Given the description of an element on the screen output the (x, y) to click on. 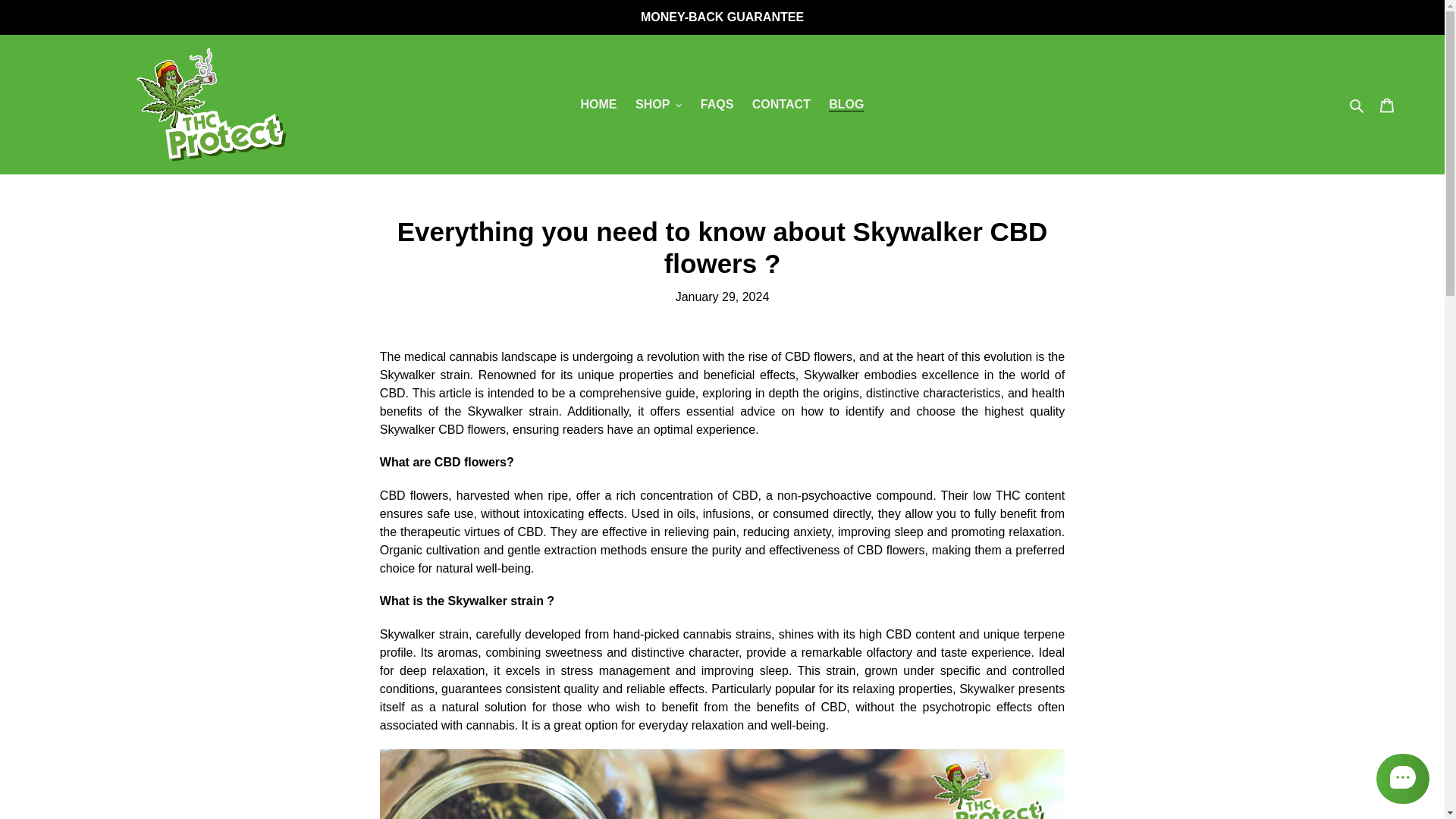
FAQS (717, 104)
HOME (598, 104)
CONTACT (781, 104)
Cart (1387, 104)
SHOP (657, 104)
SEARCH (1357, 104)
BLOG (845, 104)
